Given the description of an element on the screen output the (x, y) to click on. 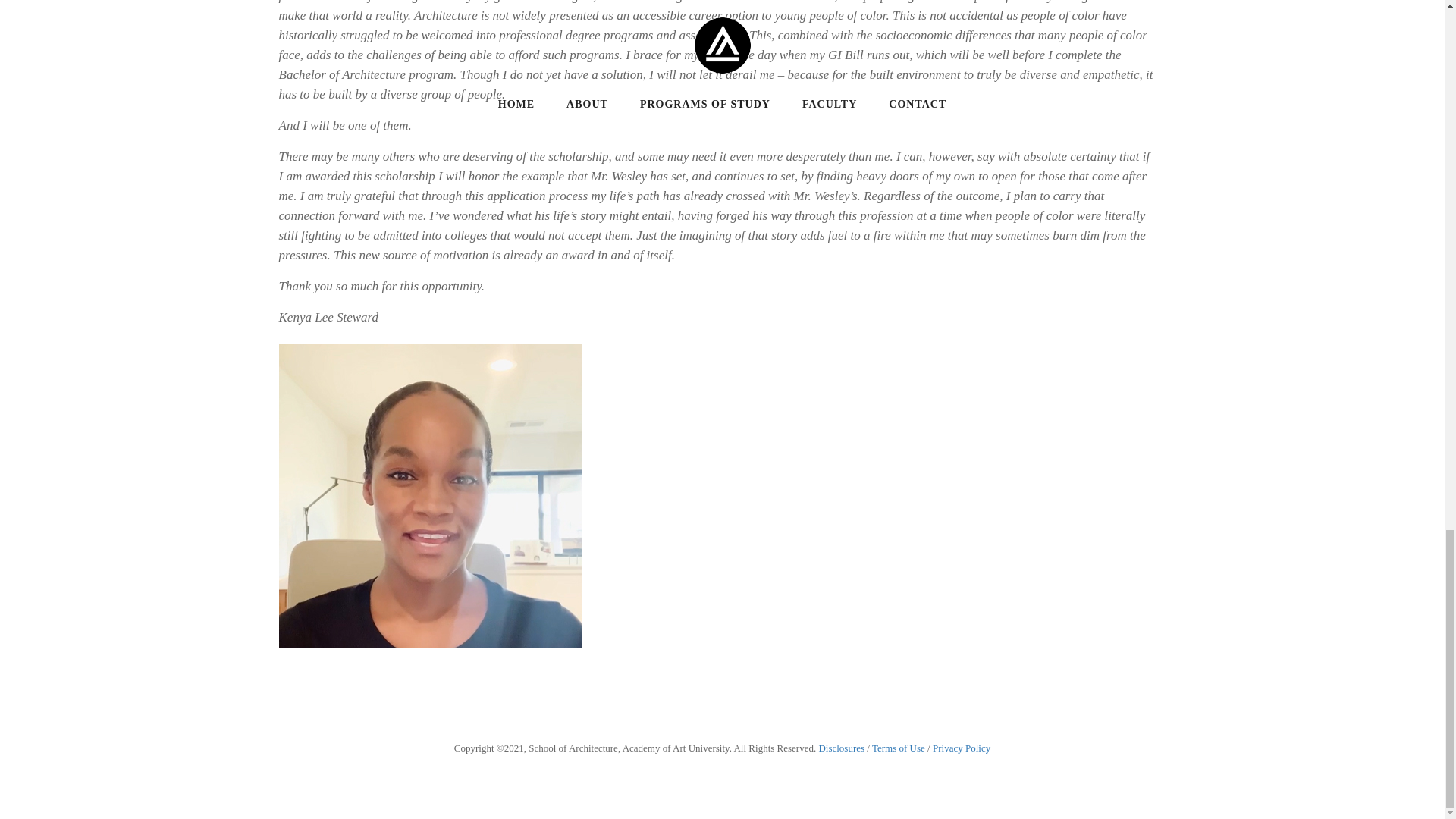
Terms of Use (898, 747)
Disclosures (841, 747)
Privacy Policy (961, 747)
